Given the description of an element on the screen output the (x, y) to click on. 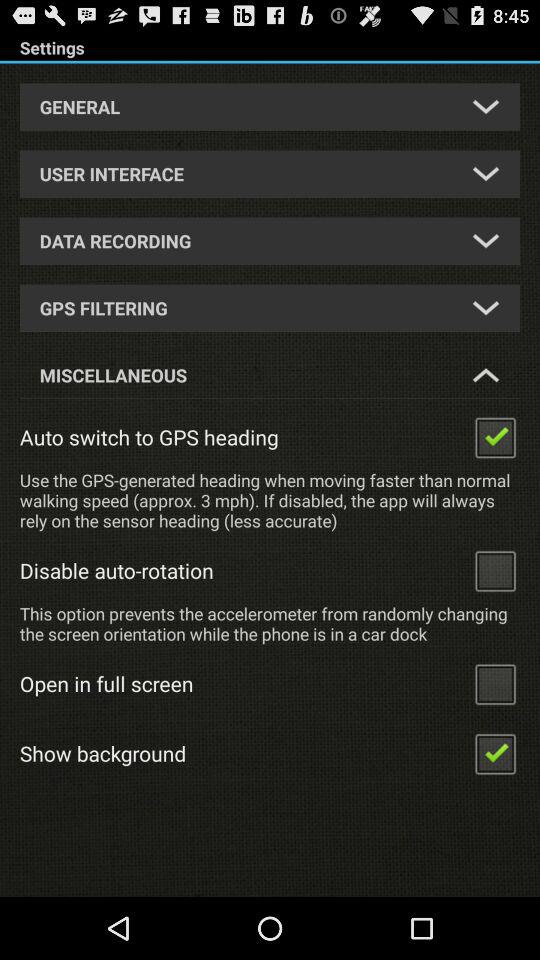
add to checklist (495, 569)
